Given the description of an element on the screen output the (x, y) to click on. 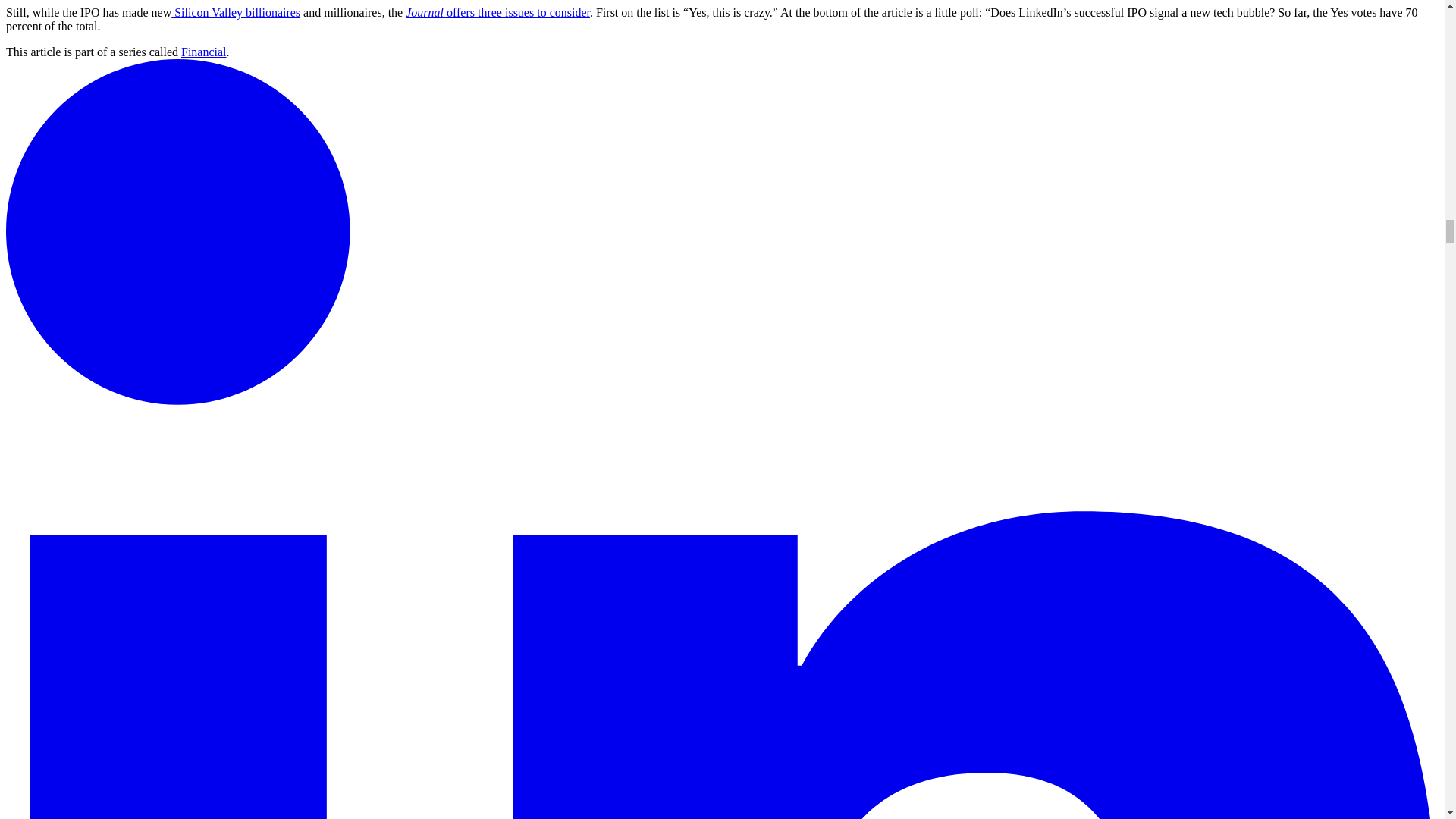
Financial (203, 51)
Journal (425, 11)
Silicon Valley billionaires (235, 11)
offers three issues to consider (516, 11)
